Given the description of an element on the screen output the (x, y) to click on. 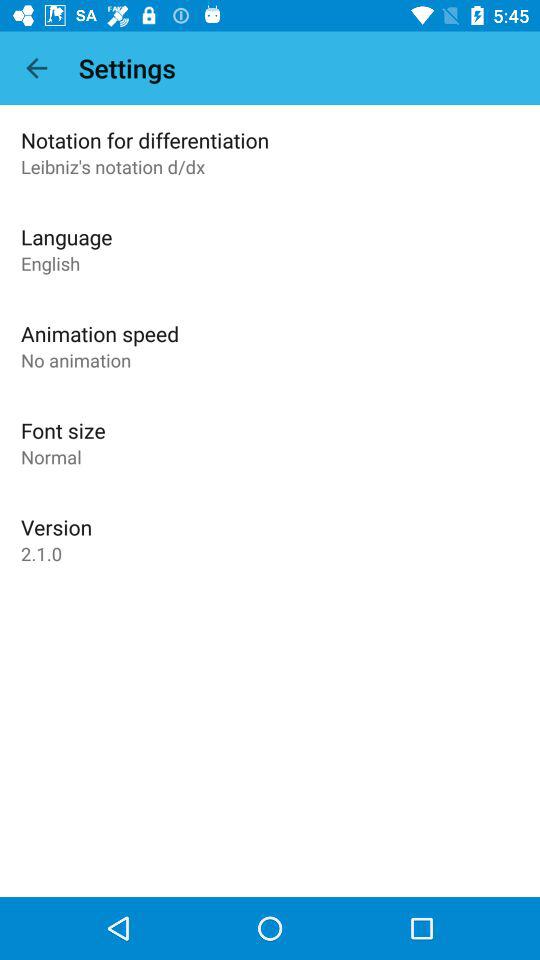
select app below notation for differentiation (113, 166)
